Given the description of an element on the screen output the (x, y) to click on. 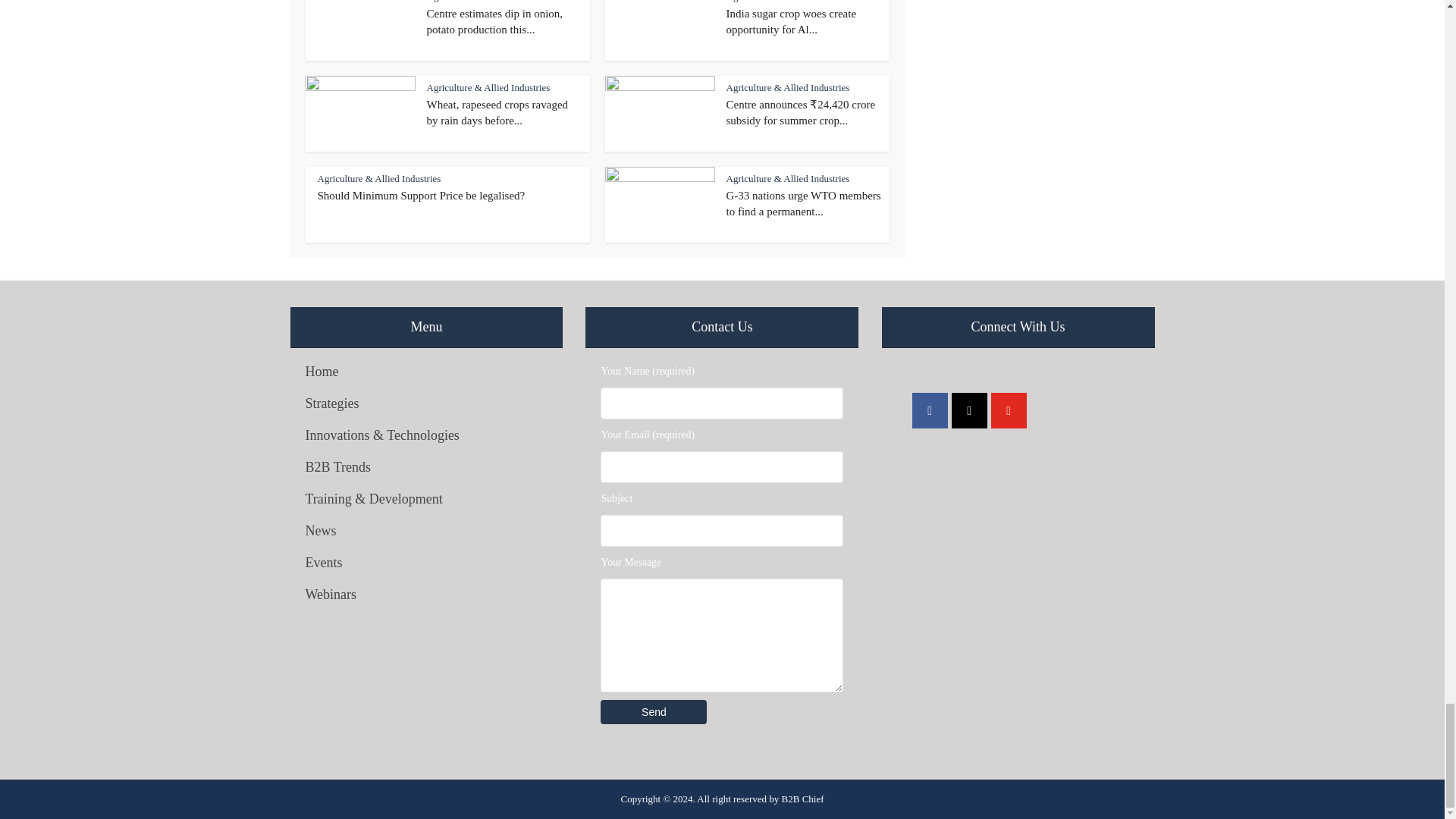
Facebook (929, 410)
Should Minimum Support Price be legalised? (420, 195)
Centre estimates dip in onion, potato production this year (494, 21)
YouTube (1008, 410)
Send (652, 711)
Instagram (969, 410)
Wheat, rapeseed crops ravaged by rain days before harvesting (496, 112)
